Given the description of an element on the screen output the (x, y) to click on. 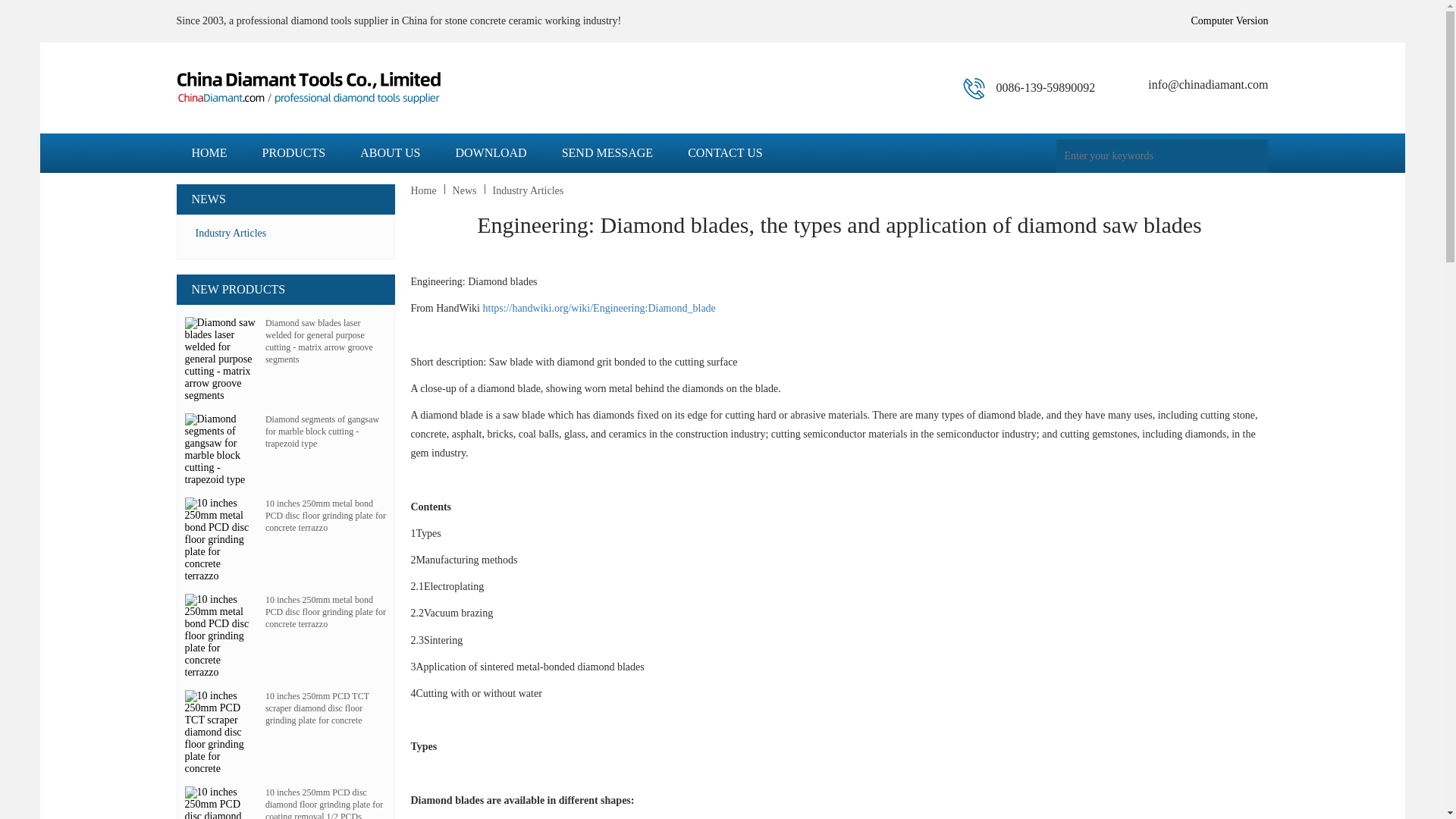
HOME (208, 165)
Computer Version (1229, 20)
PRODUCTS (294, 165)
